Given the description of an element on the screen output the (x, y) to click on. 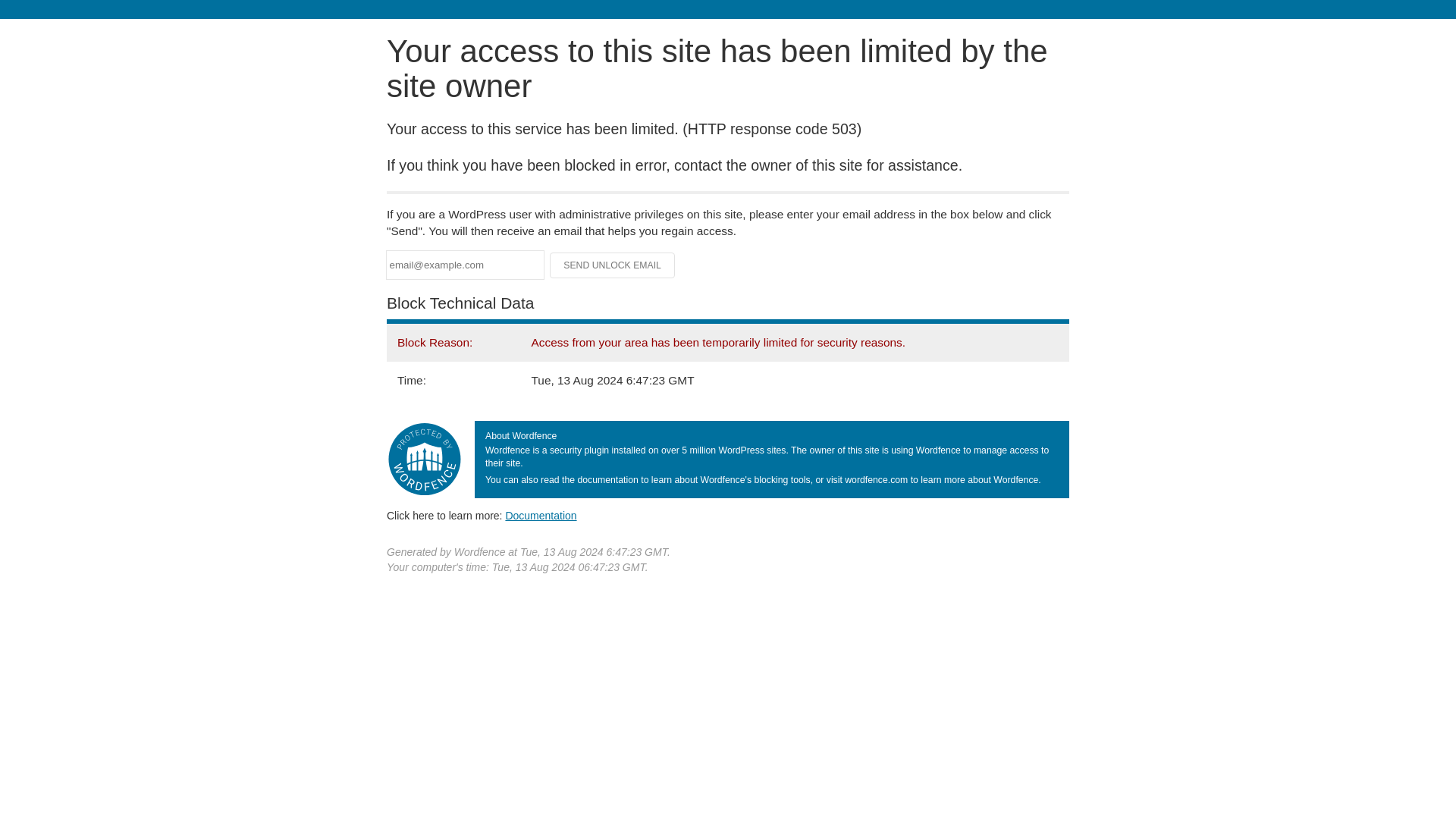
Send Unlock Email (612, 265)
Documentation (540, 515)
Send Unlock Email (612, 265)
